Given the description of an element on the screen output the (x, y) to click on. 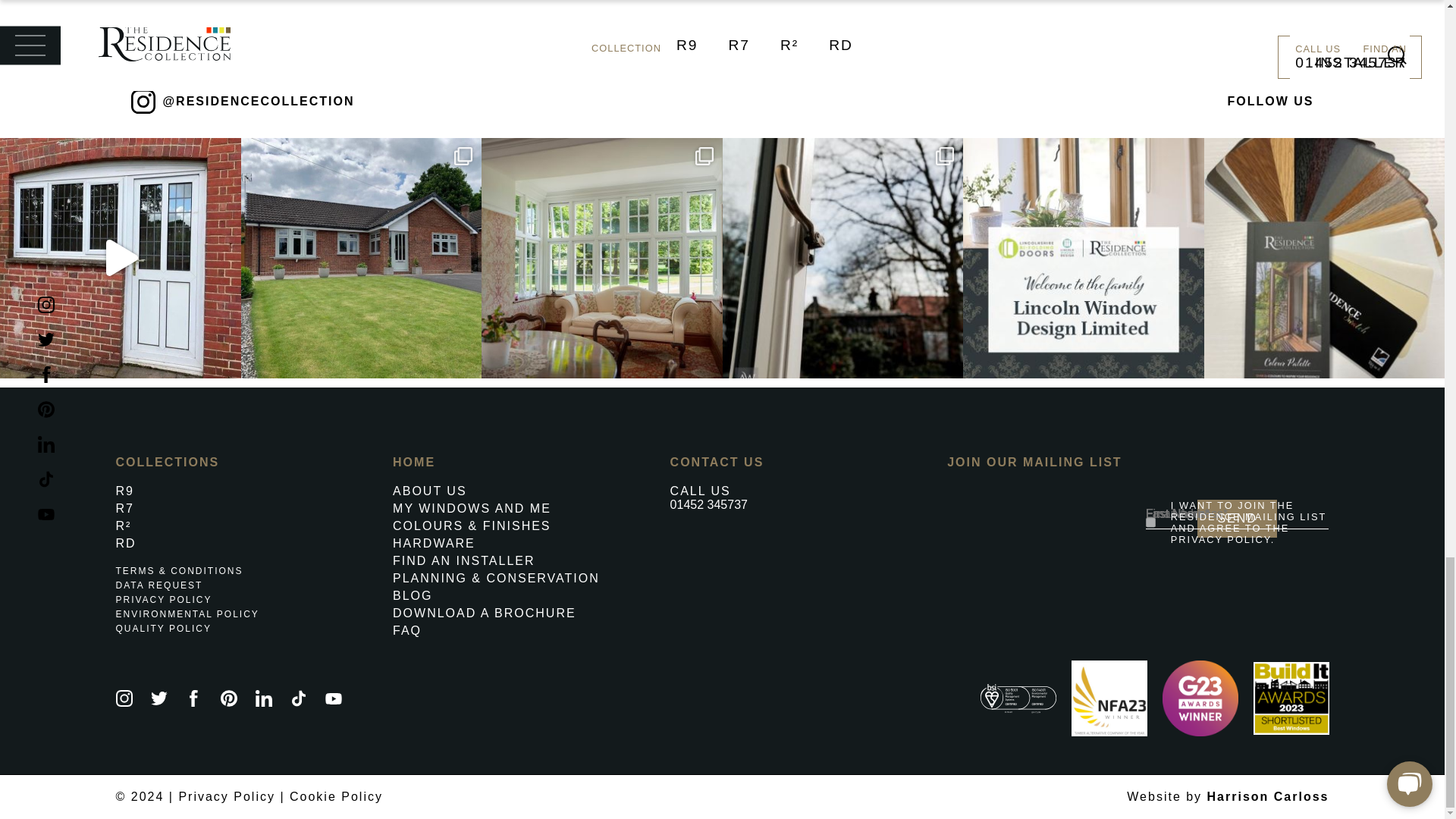
Send (1236, 518)
